Given the description of an element on the screen output the (x, y) to click on. 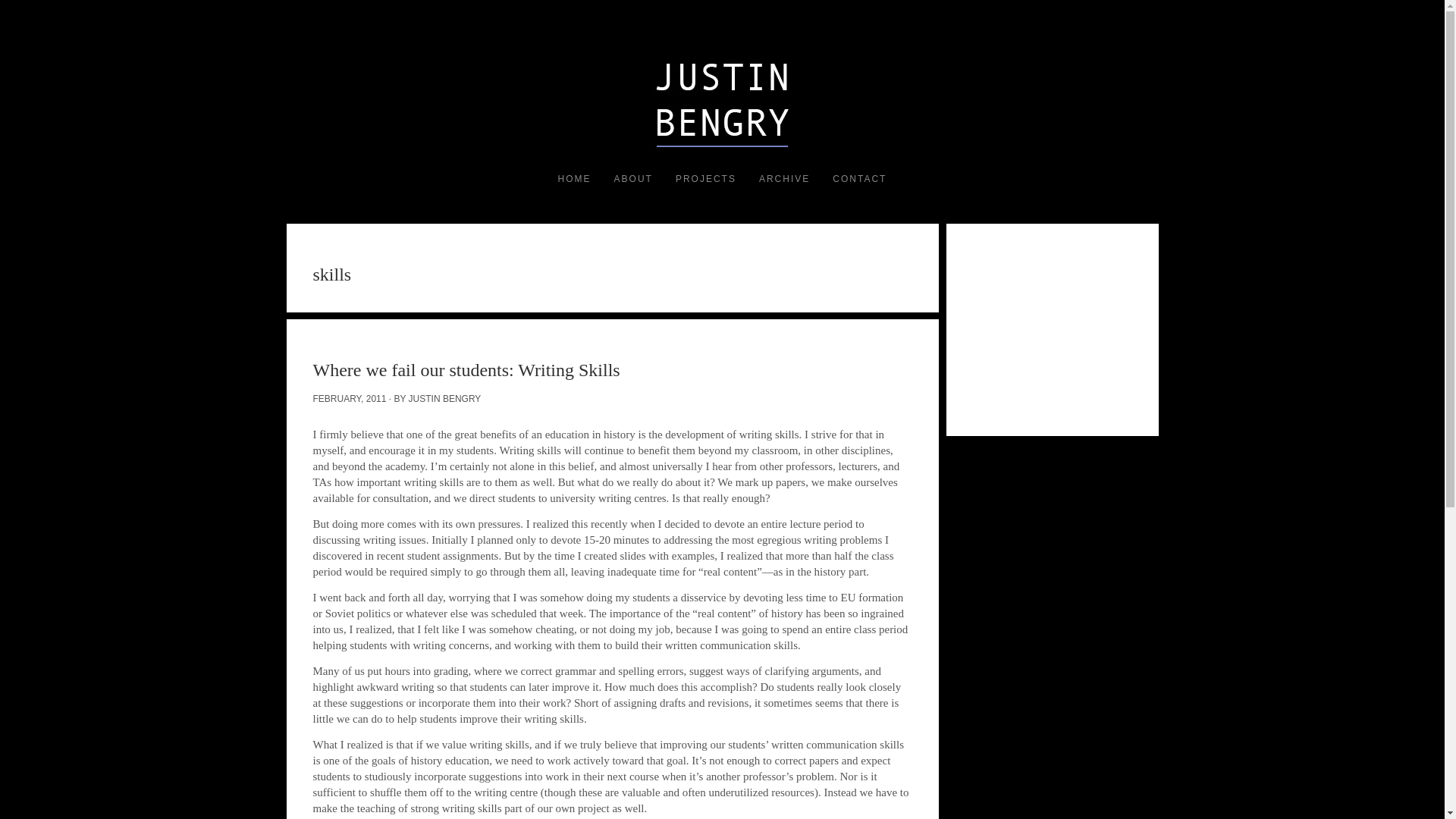
ABOUT (632, 179)
PROJECTS (705, 179)
CONTACT (859, 179)
ARCHIVE (784, 179)
HOME (574, 179)
Where we fail our students: Writing Skills (466, 370)
